Given the description of an element on the screen output the (x, y) to click on. 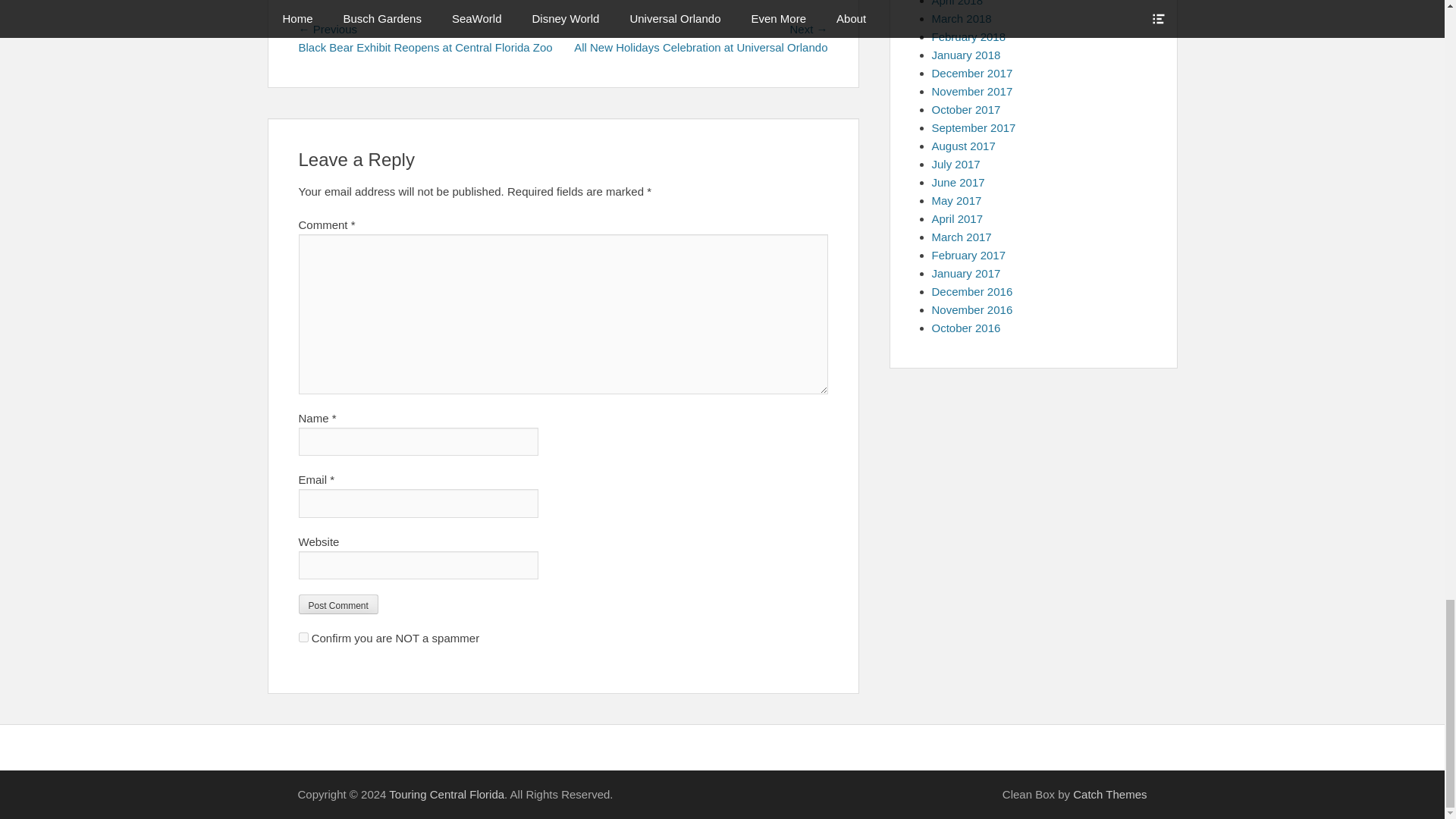
Post Comment (338, 604)
on (303, 637)
